Given the description of an element on the screen output the (x, y) to click on. 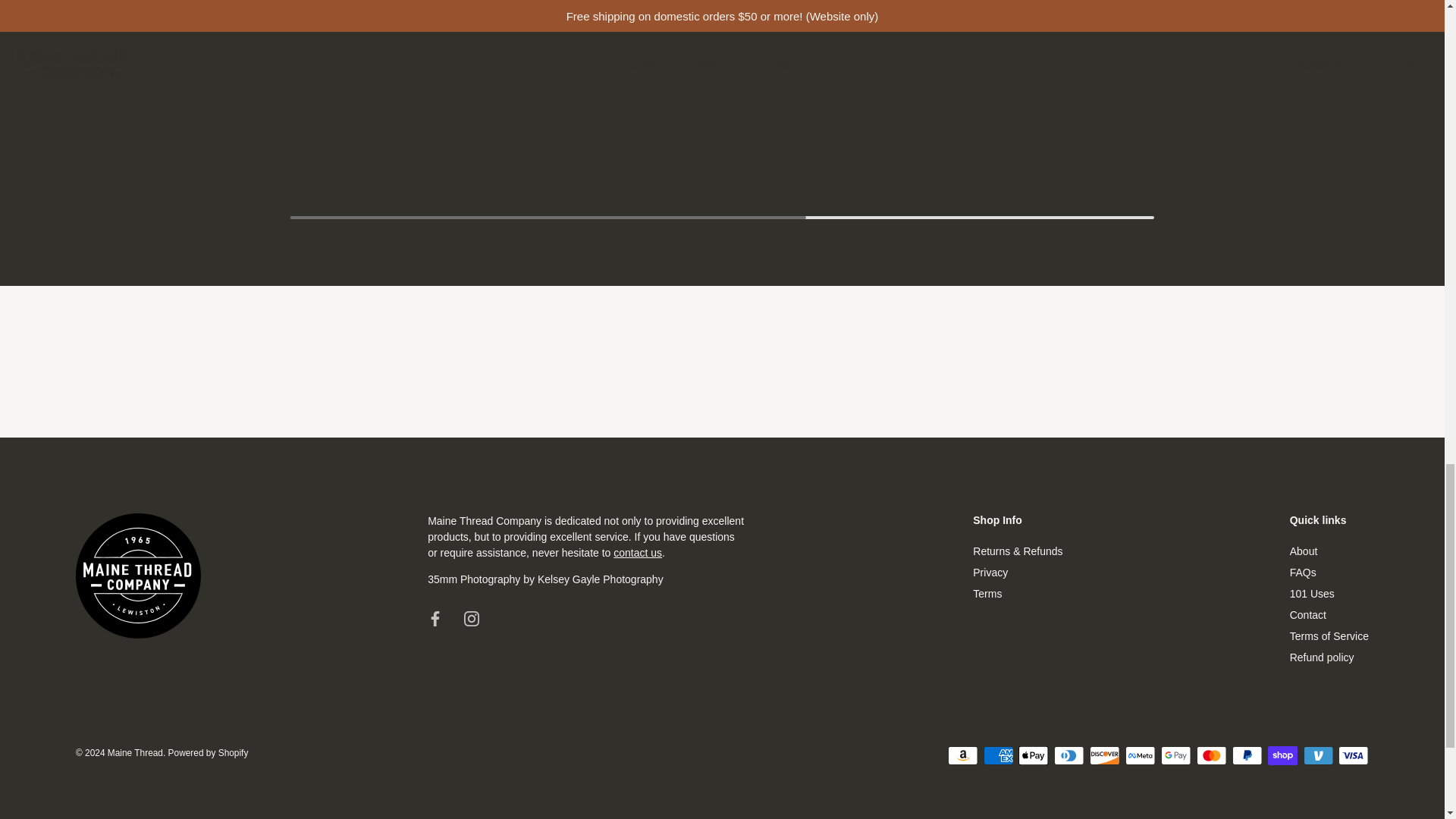
Shop Pay (1282, 755)
PayPal (1246, 755)
Apple Pay (1032, 755)
Mastercard (1210, 755)
Instagram (471, 618)
Google Pay (1175, 755)
Visa (1353, 755)
Diners Club (1069, 755)
Meta Pay (1140, 755)
Contact (637, 552)
Venmo (1318, 755)
Amazon (962, 755)
American Express (998, 755)
Discover (1104, 755)
